Given the description of an element on the screen output the (x, y) to click on. 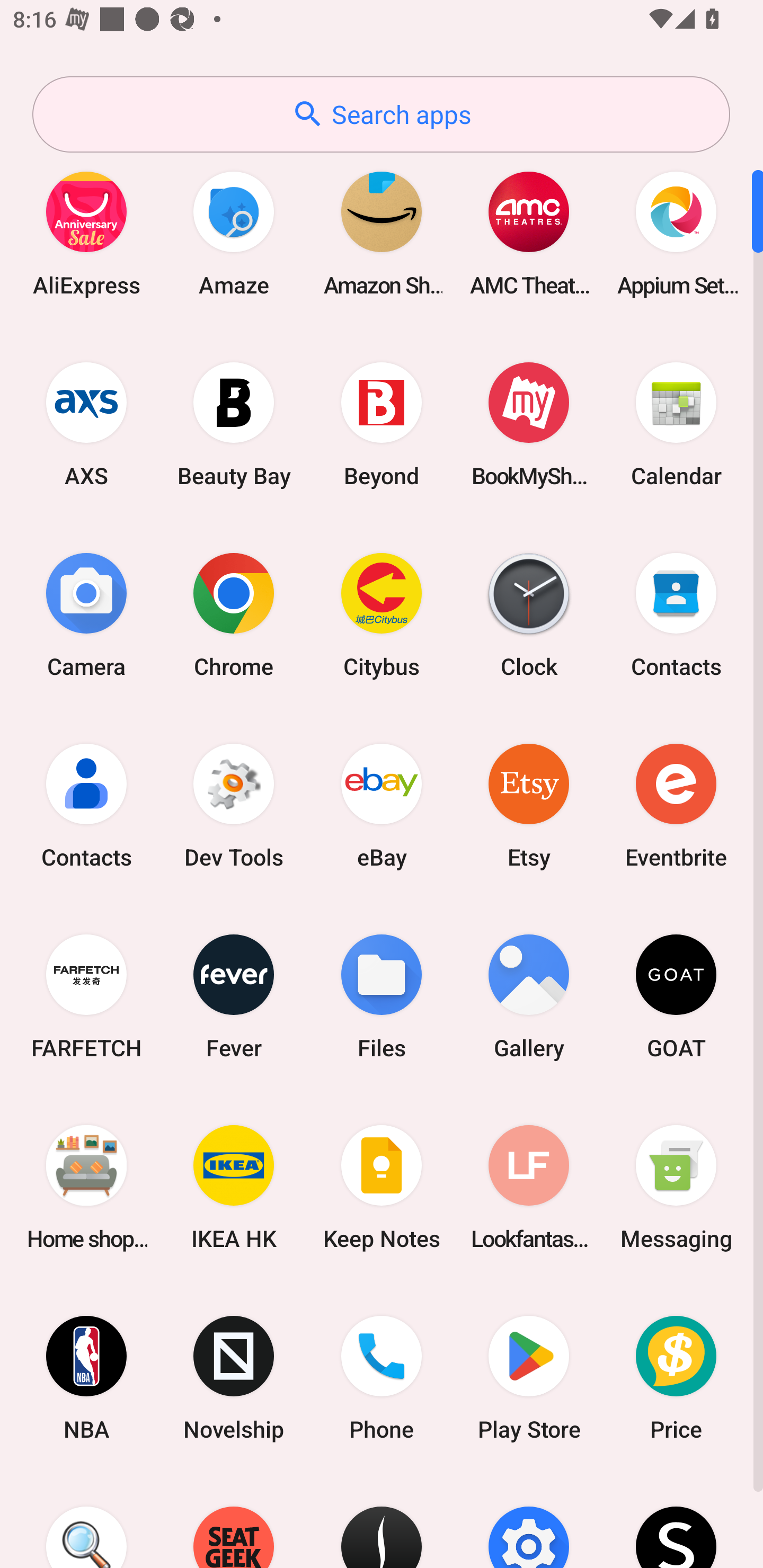
  Search apps (381, 114)
AliExpress (86, 233)
Amaze (233, 233)
Amazon Shopping (381, 233)
AMC Theatres (528, 233)
Appium Settings (676, 233)
AXS (86, 424)
Beauty Bay (233, 424)
Beyond (381, 424)
BookMyShow (528, 424)
Calendar (676, 424)
Camera (86, 614)
Chrome (233, 614)
Citybus (381, 614)
Clock (528, 614)
Contacts (676, 614)
Contacts (86, 805)
Dev Tools (233, 805)
eBay (381, 805)
Etsy (528, 805)
Eventbrite (676, 805)
FARFETCH (86, 996)
Fever (233, 996)
Files (381, 996)
Gallery (528, 996)
GOAT (676, 996)
Home shopping (86, 1186)
IKEA HK (233, 1186)
Keep Notes (381, 1186)
Lookfantastic (528, 1186)
Messaging (676, 1186)
NBA (86, 1377)
Novelship (233, 1377)
Phone (381, 1377)
Play Store (528, 1377)
Price (676, 1377)
